Given the description of an element on the screen output the (x, y) to click on. 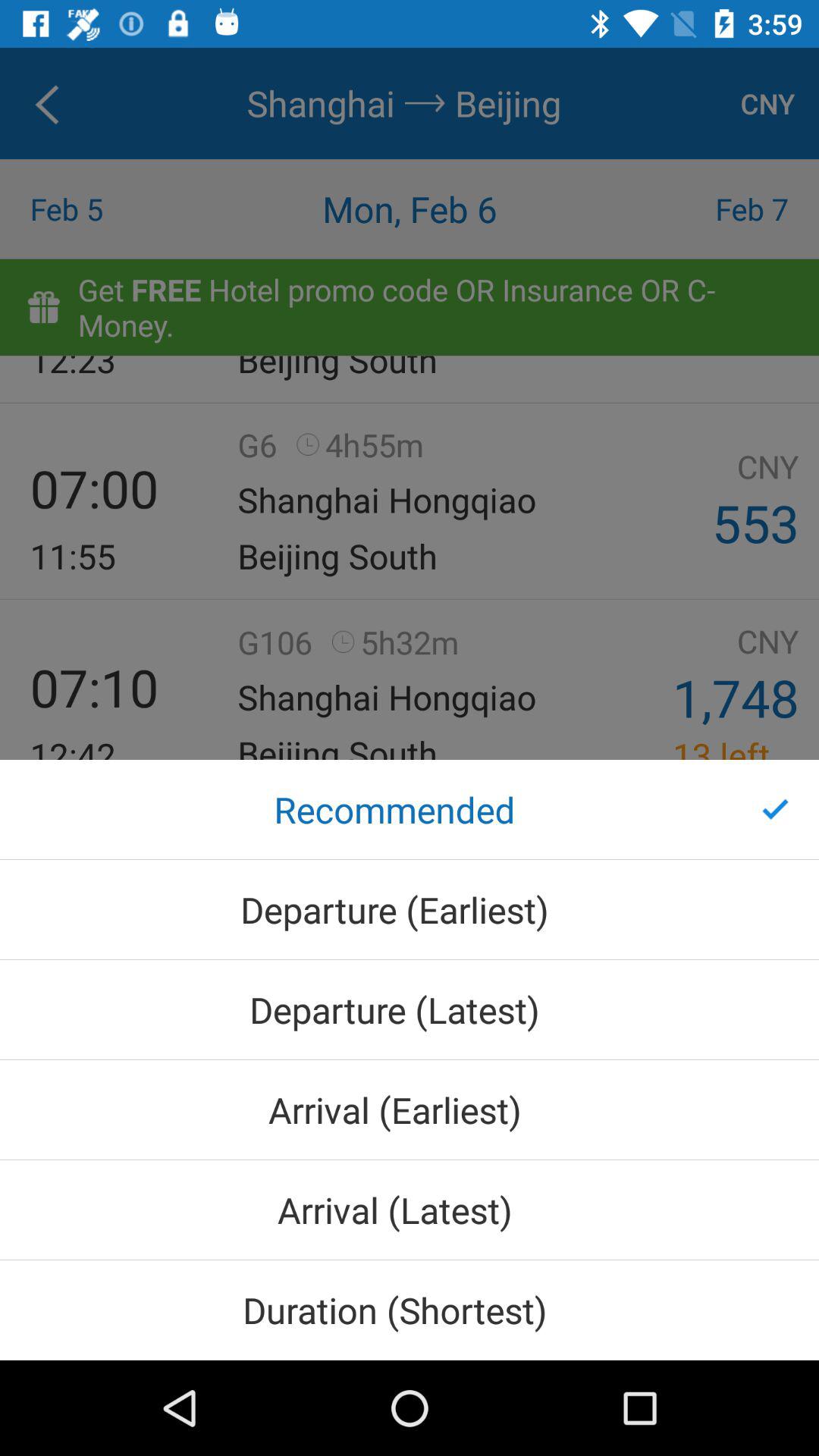
select icon below departure (latest) icon (409, 1109)
